Given the description of an element on the screen output the (x, y) to click on. 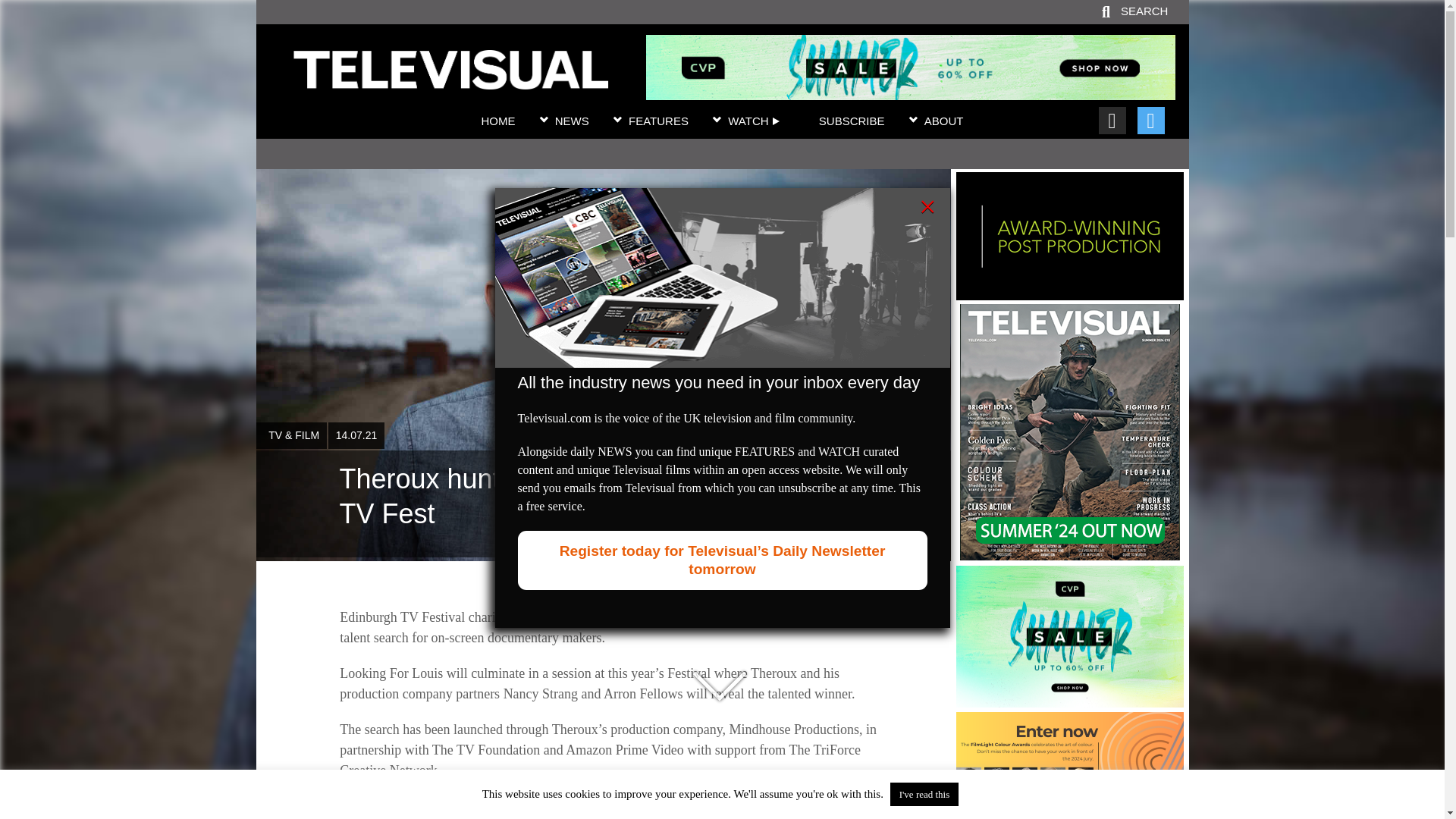
FEATURES (658, 121)
Theroux hunts for new doc talent for Edinburgh TV Fest (451, 80)
ABOUT (943, 121)
WATCH (753, 121)
HOME (497, 121)
NEWS (571, 121)
Theroux hunts for new doc talent for Edinburgh TV Fest (603, 503)
14.07.21 (356, 435)
SUBSCRIBE (851, 121)
